Given the description of an element on the screen output the (x, y) to click on. 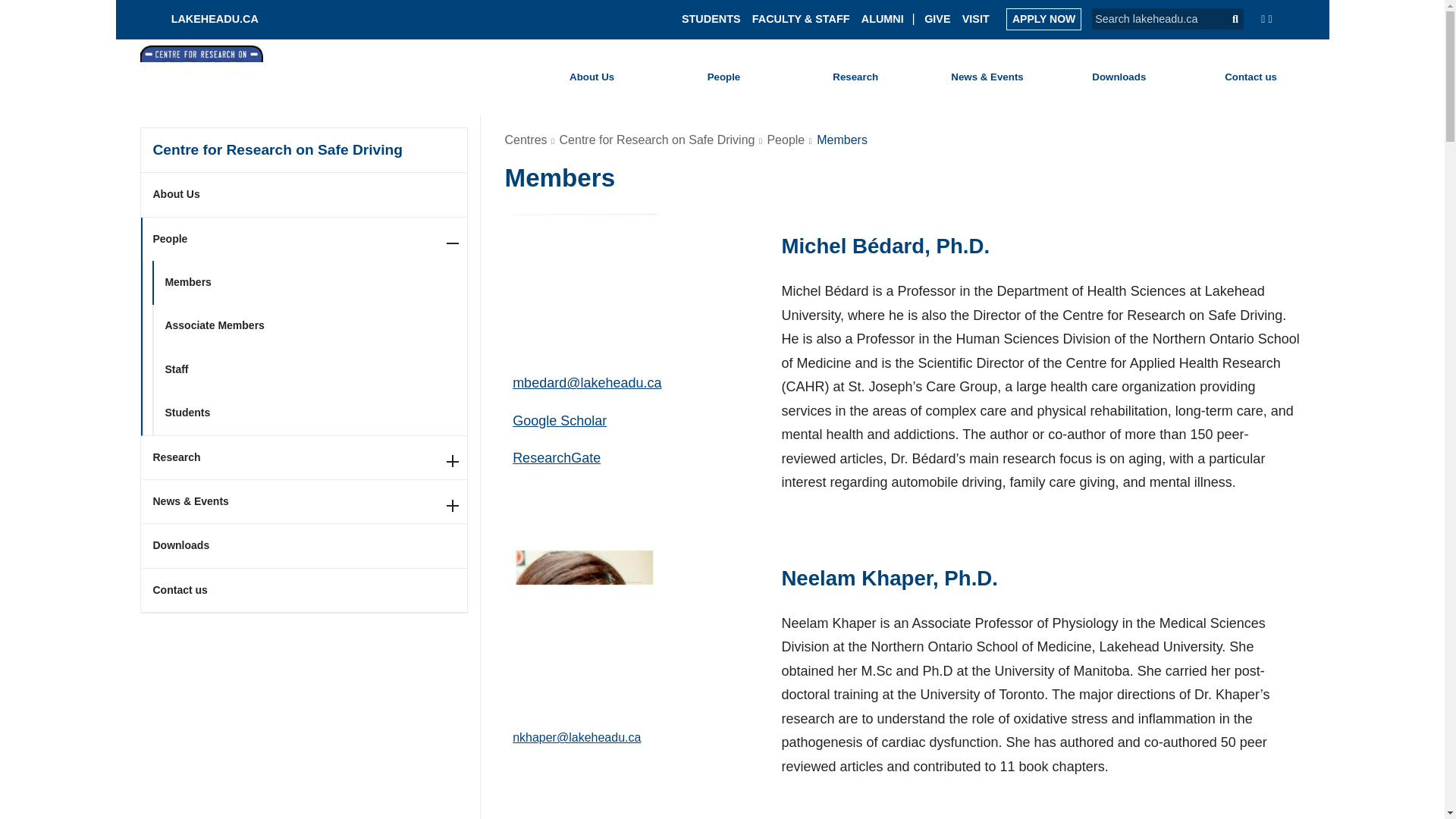
Downloads (1118, 77)
Log in to Romeo Research (869, 75)
Research (855, 77)
LAKEHEADU.CA (204, 18)
MYCOURSELINK (1140, 79)
Centre for Research on Safe Driving (304, 150)
About Us (304, 194)
STUDENTS (711, 18)
Enter the terms you wish to search for. (1152, 18)
Log in to mySuccess (1042, 81)
People (723, 77)
GIVE (937, 18)
ALUMNI (882, 18)
Return to the home page (204, 18)
